Given the description of an element on the screen output the (x, y) to click on. 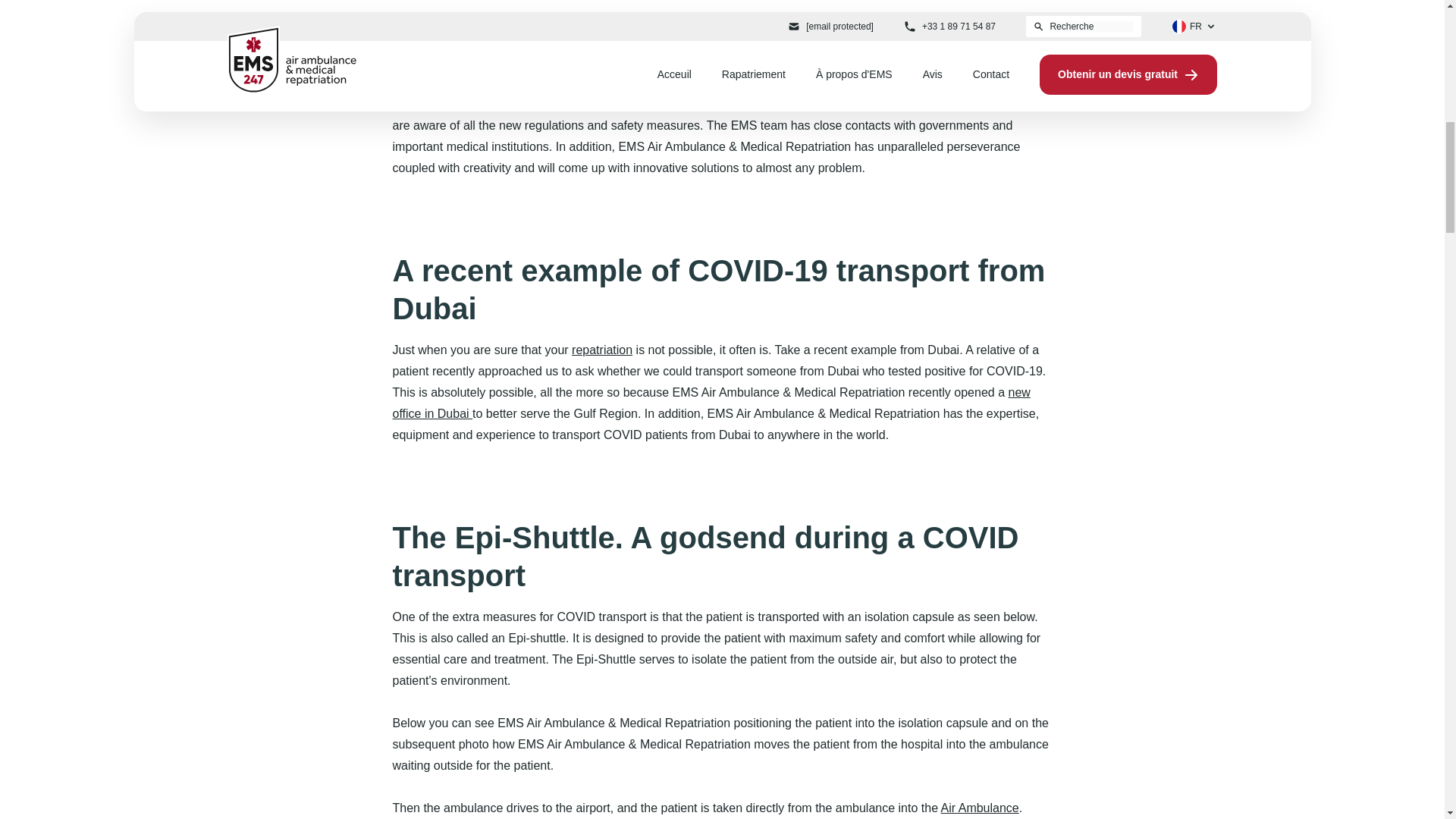
Air Ambulance (979, 807)
new office in Dubai (711, 402)
repatriation (601, 349)
